Given the description of an element on the screen output the (x, y) to click on. 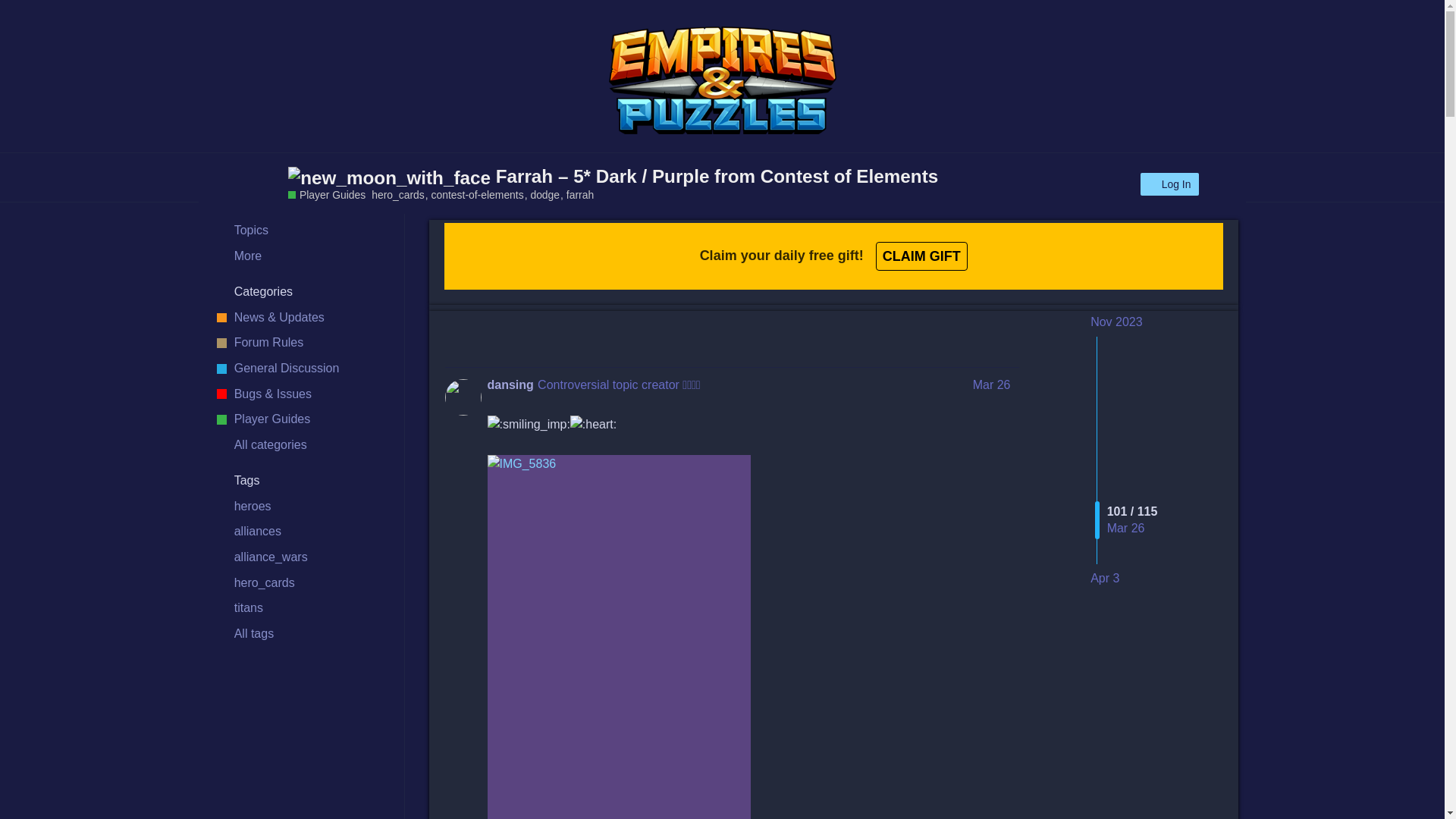
Player Guides (326, 195)
General Discussion (301, 368)
Toggle section (301, 292)
Log In (1169, 183)
Player Guides (301, 419)
heroes (301, 506)
dodge (547, 194)
Toggle section (301, 481)
CLAIM GIFT (922, 255)
